Given the description of an element on the screen output the (x, y) to click on. 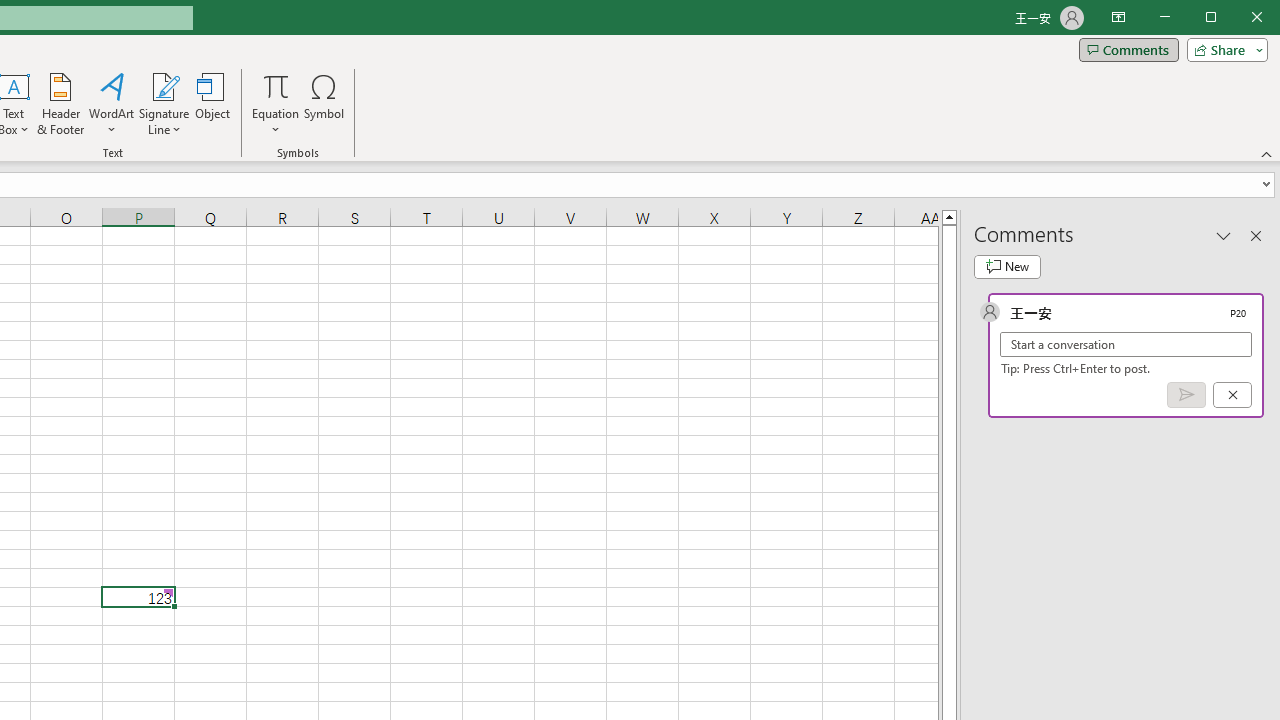
Signature Line (164, 86)
Equation (275, 104)
Start a conversation (1126, 344)
Minimize (1217, 18)
New comment (1007, 266)
Symbol... (324, 104)
Collapse the Ribbon (1267, 154)
Header & Footer... (60, 104)
Line up (948, 216)
Equation (275, 86)
Close pane (1256, 235)
Comments (1128, 49)
Signature Line (164, 104)
